Given the description of an element on the screen output the (x, y) to click on. 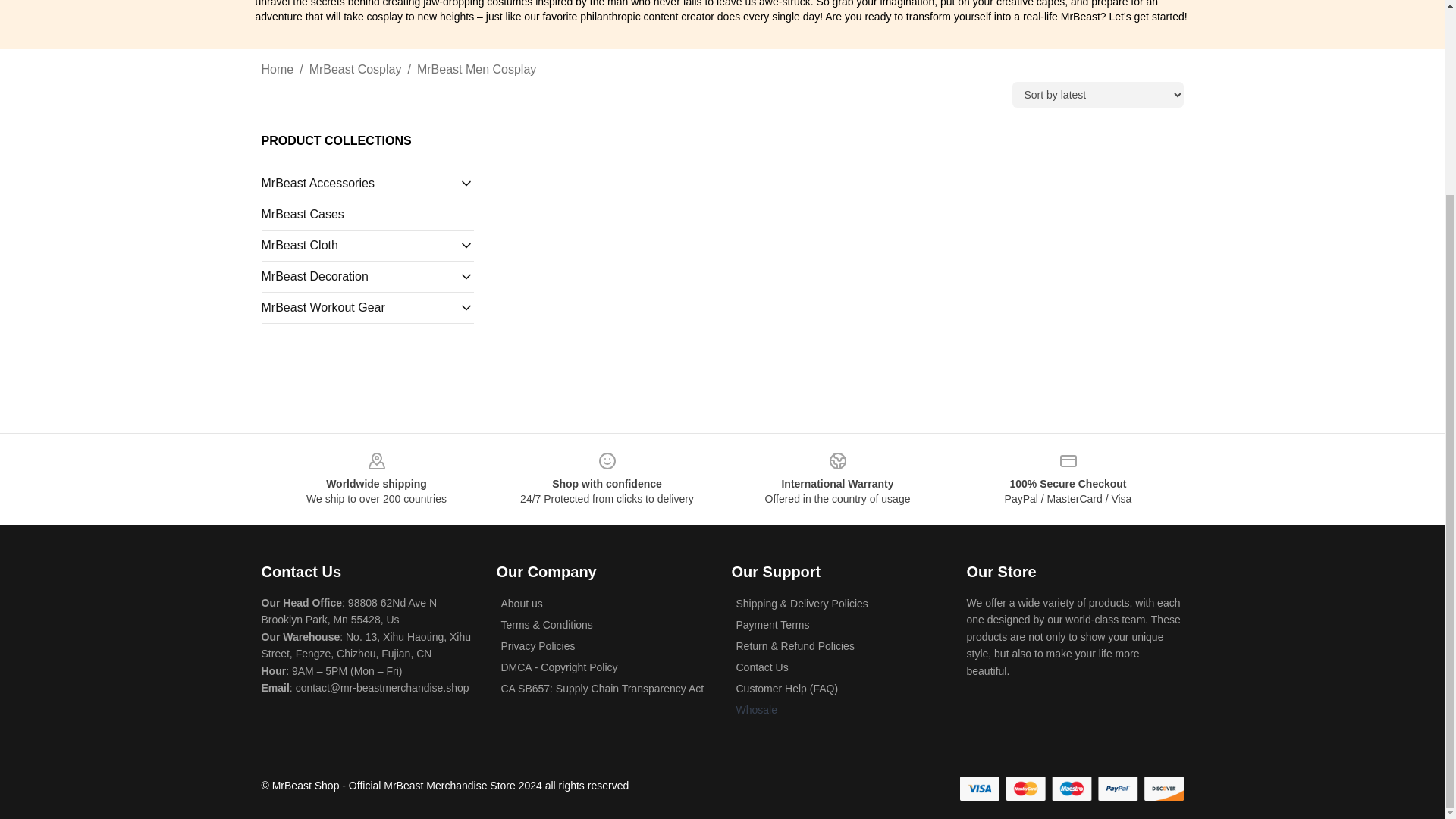
MrBeast Cosplay (354, 69)
MrBeast Accessories (359, 183)
Home (277, 69)
MrBeast Men Cosplay (475, 69)
